Given the description of an element on the screen output the (x, y) to click on. 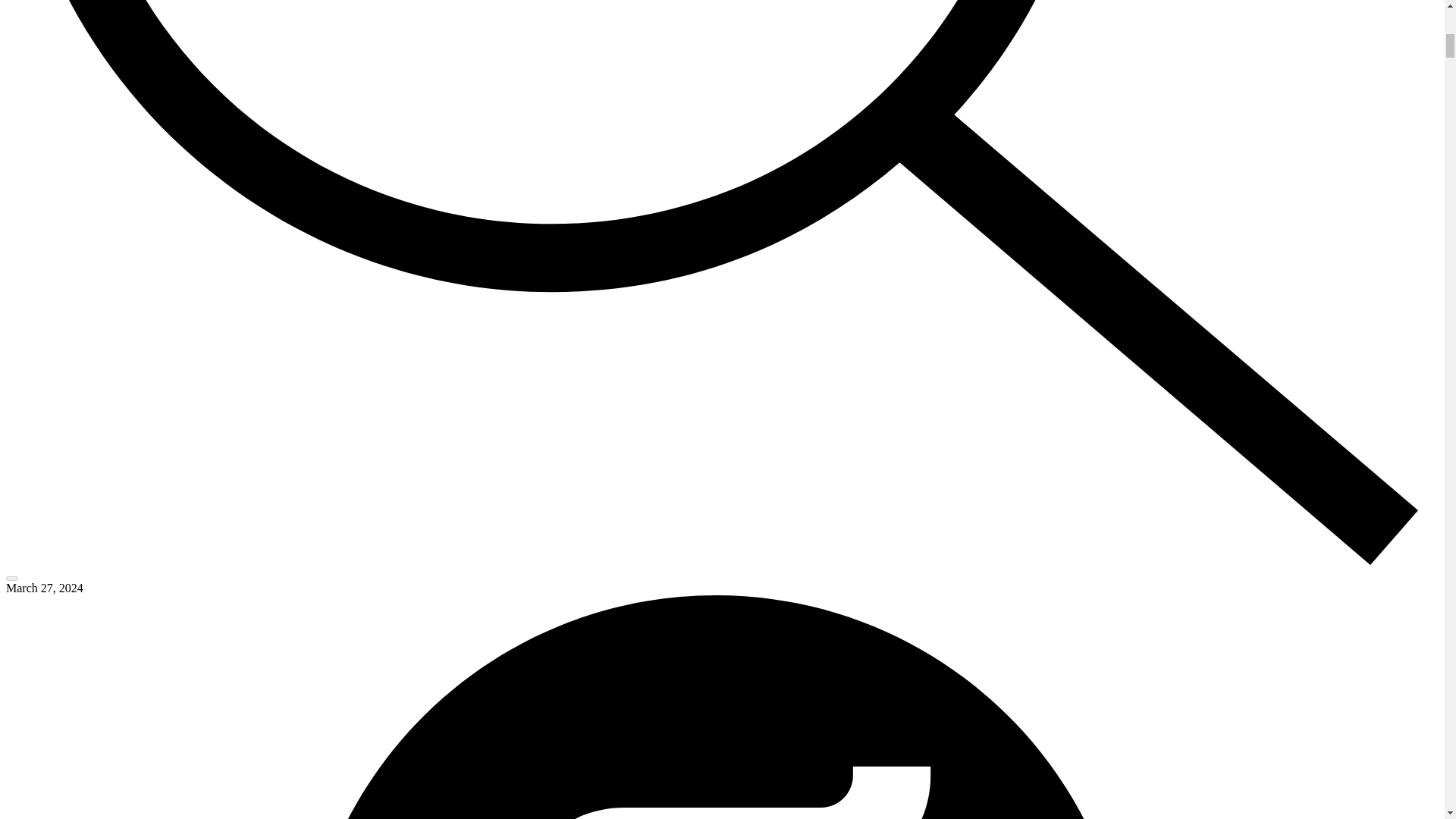
Mobile menu (11, 578)
